Given the description of an element on the screen output the (x, y) to click on. 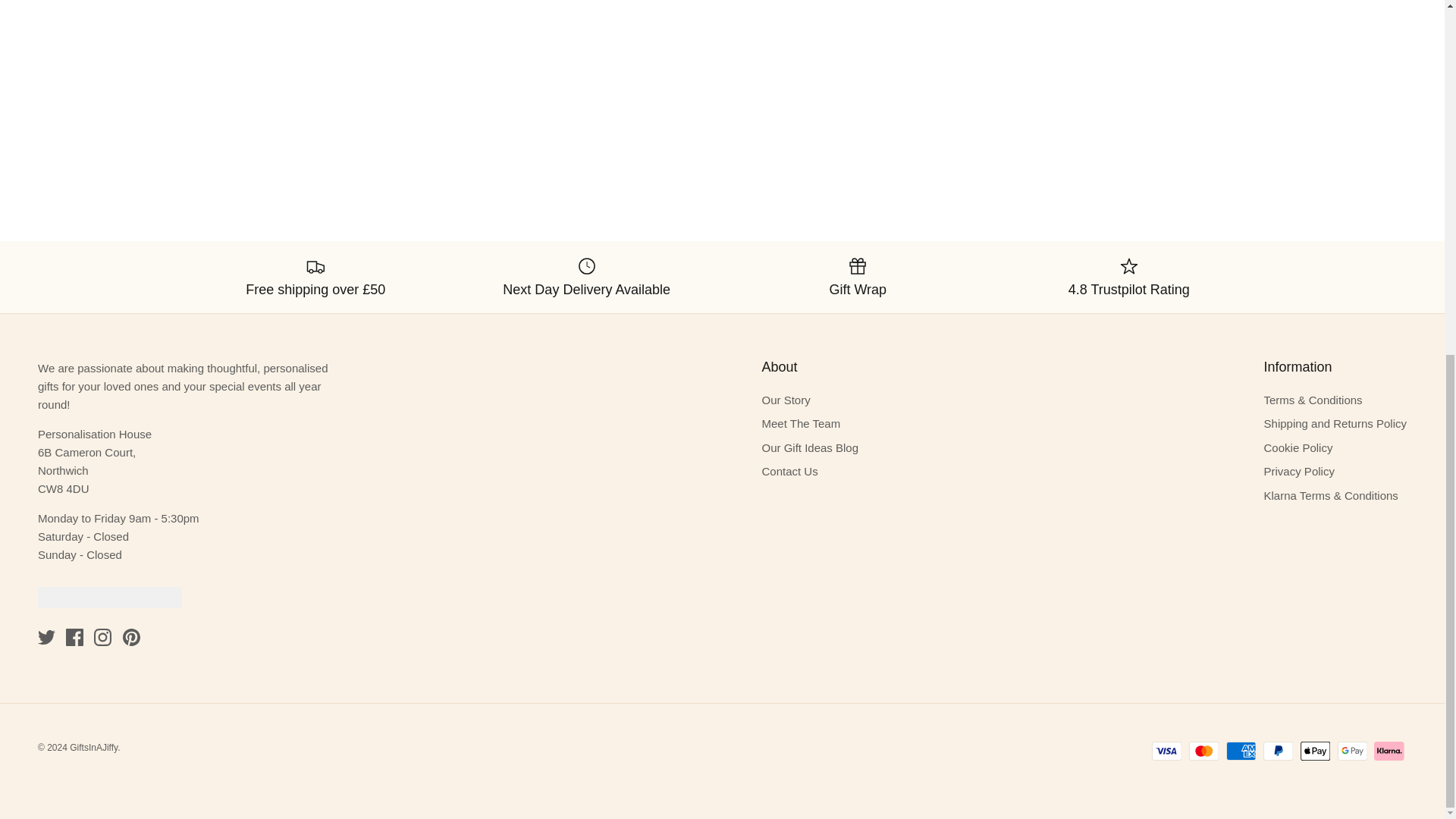
American Express (1240, 751)
Klarna (1388, 751)
Twitter (46, 637)
PayPal (1277, 751)
Facebook (73, 637)
Apple Pay (1315, 751)
Visa (1166, 751)
Instagram (103, 637)
Pinterest (130, 637)
Google Pay (1352, 751)
Mastercard (1203, 751)
